Given the description of an element on the screen output the (x, y) to click on. 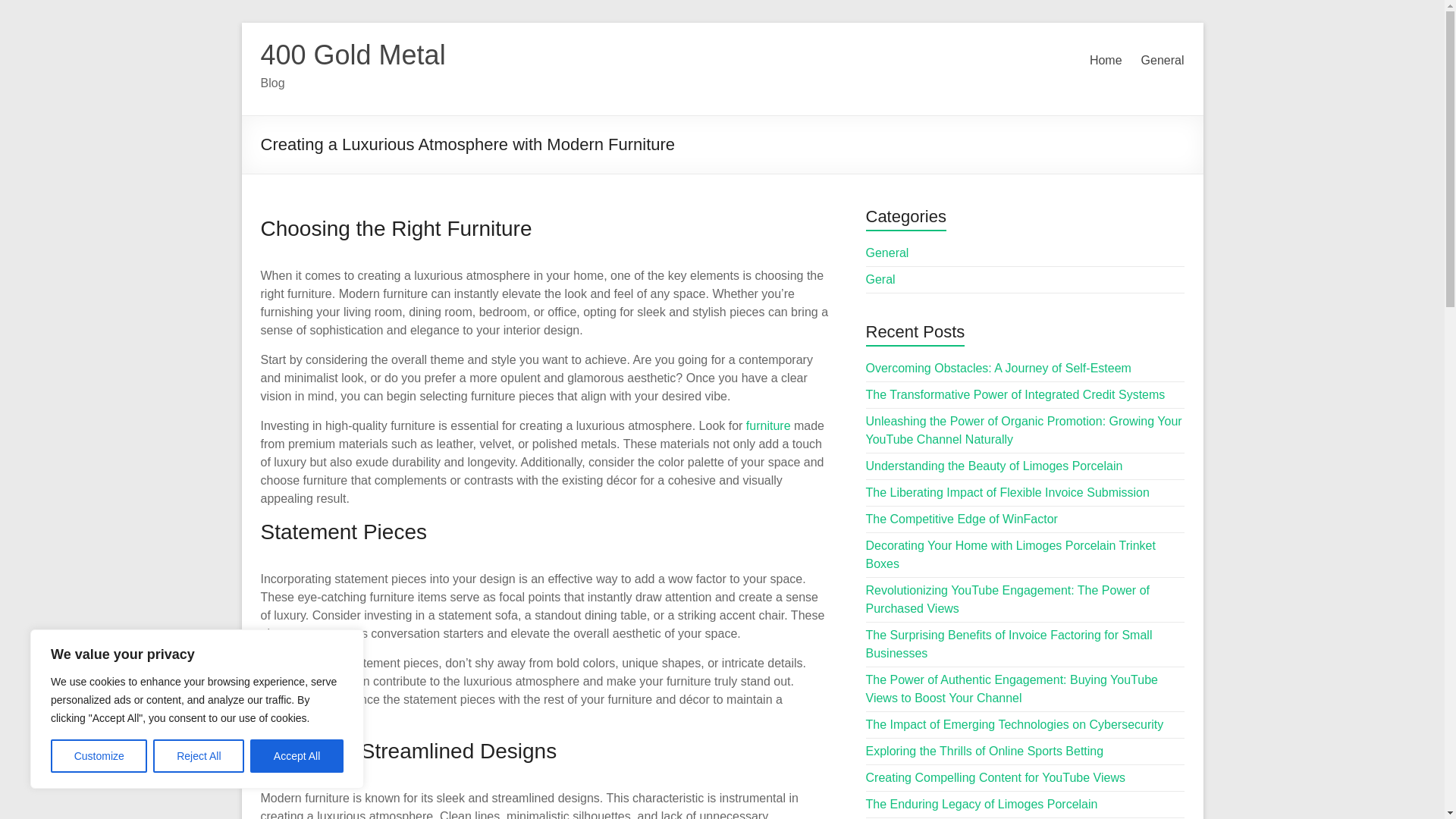
400 Gold Metal (352, 54)
General (1163, 60)
furniture (767, 425)
400 Gold Metal (352, 54)
Overcoming Obstacles: A Journey of Self-Esteem (998, 367)
Decorating Your Home with Limoges Porcelain Trinket Boxes (1011, 554)
Accept All (296, 756)
Home (1105, 60)
